Given the description of an element on the screen output the (x, y) to click on. 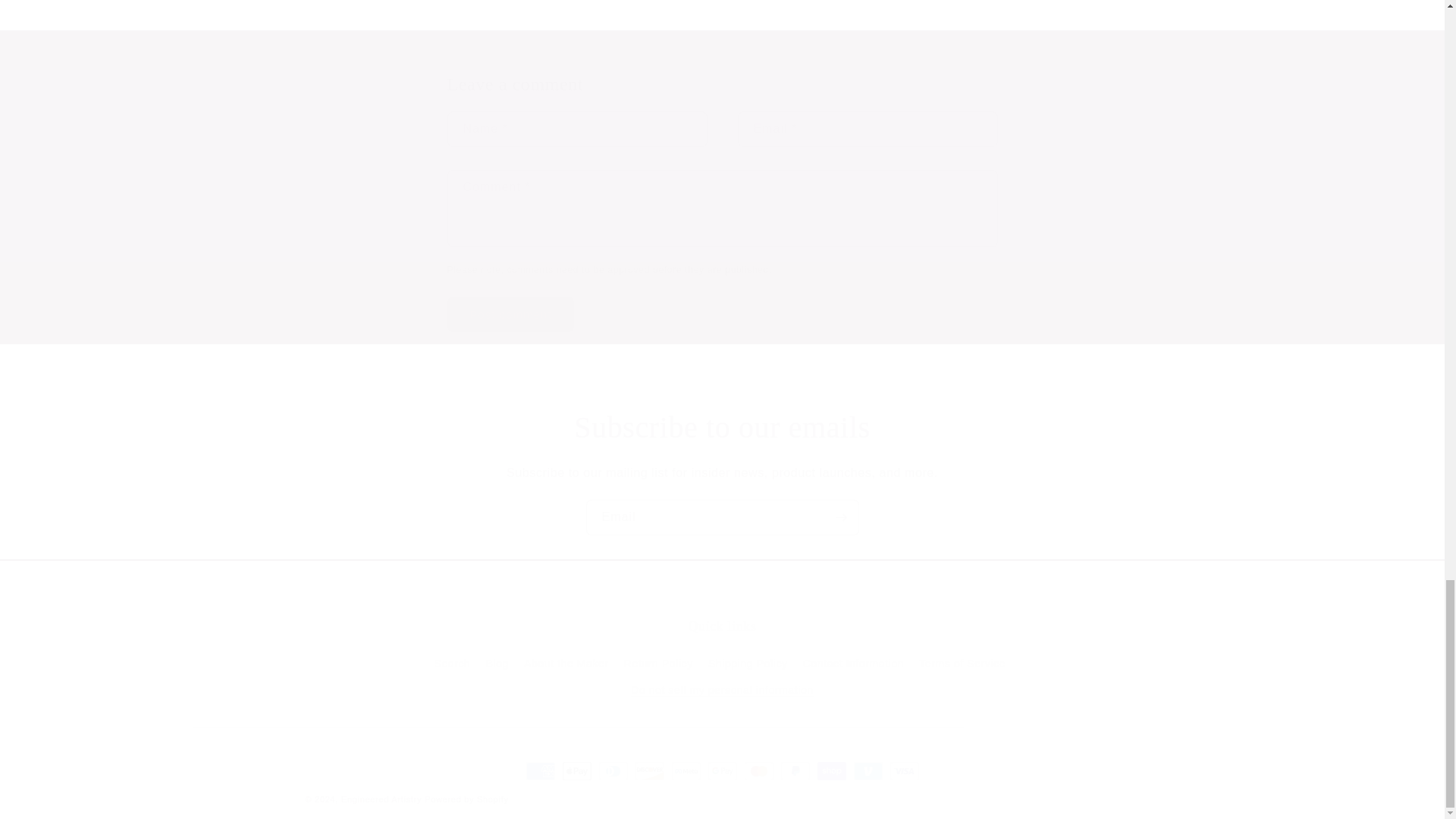
Email (722, 517)
Post comment (510, 314)
Subscribe to our emails (721, 427)
